Given the description of an element on the screen output the (x, y) to click on. 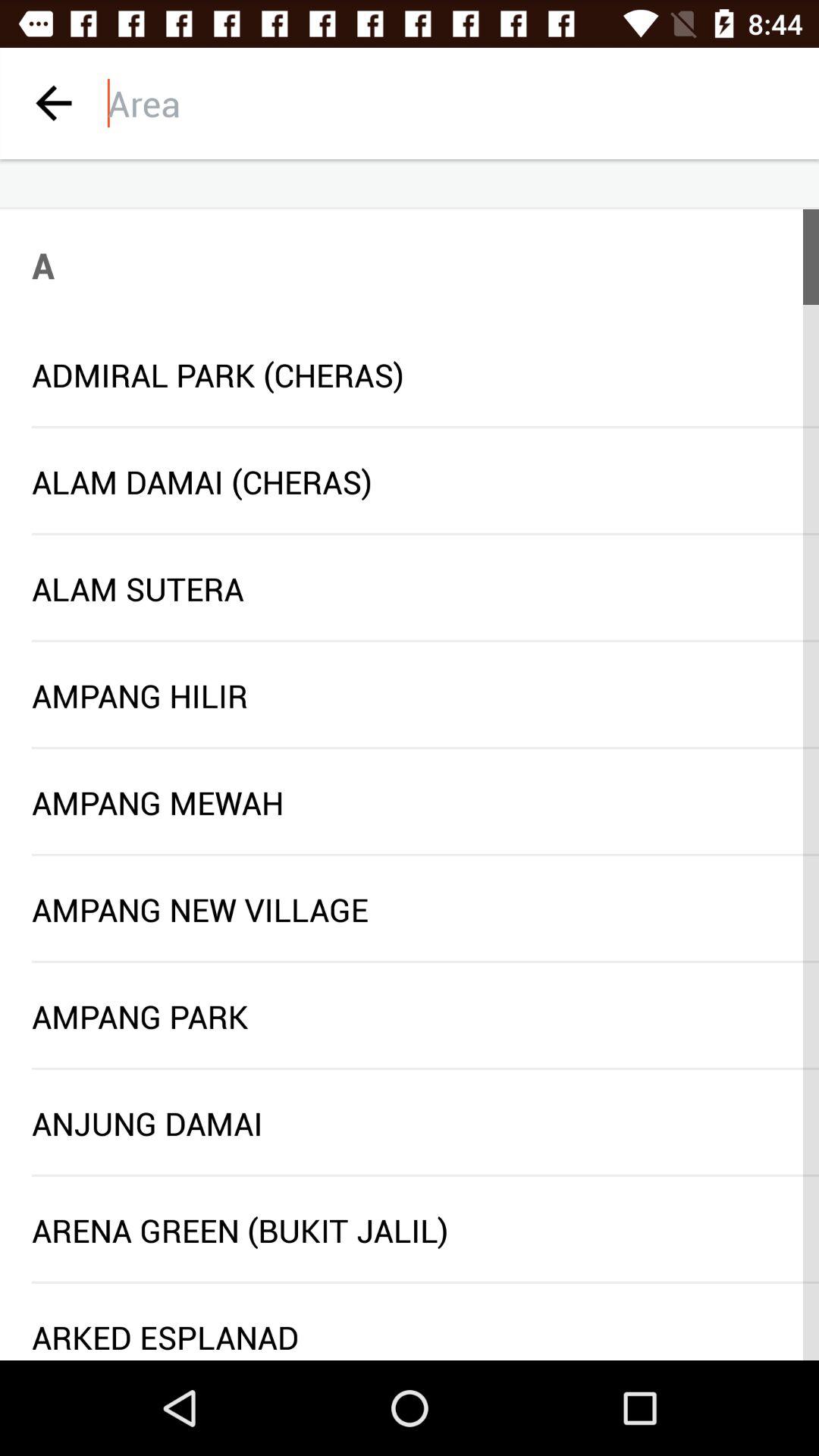
go to previous (53, 103)
